Given the description of an element on the screen output the (x, y) to click on. 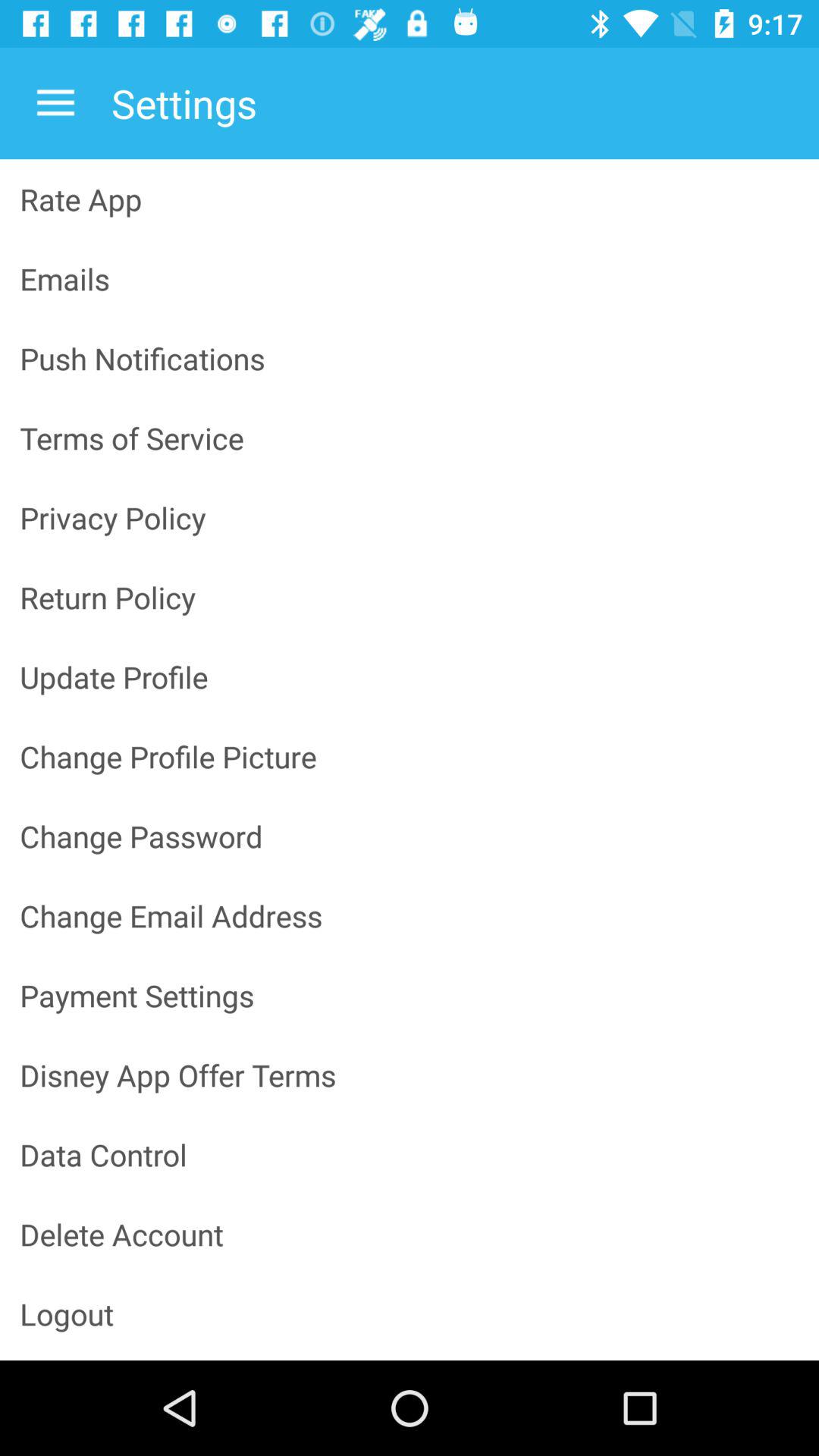
turn off the change password (409, 836)
